Given the description of an element on the screen output the (x, y) to click on. 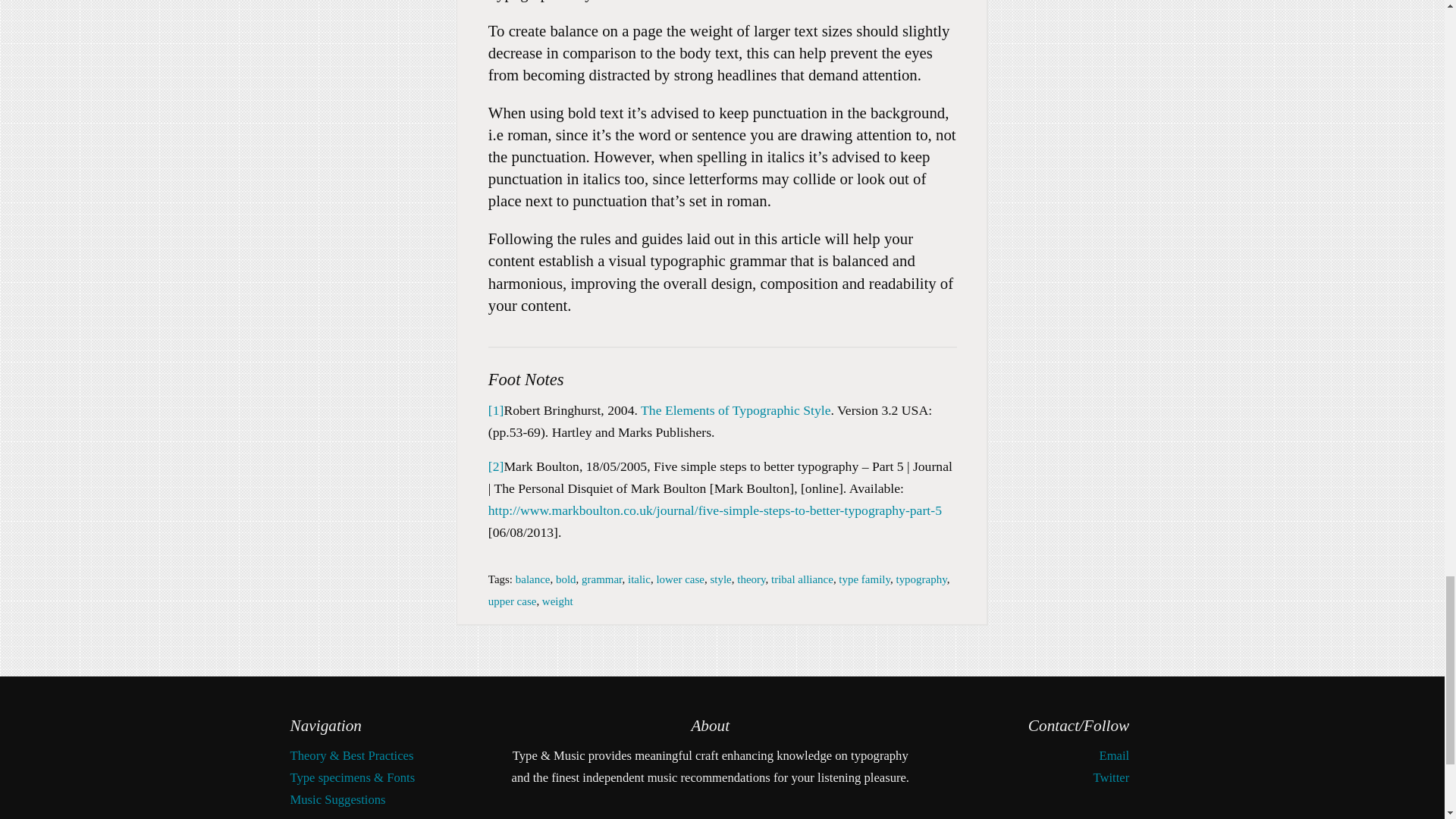
article footnotes (721, 443)
type family (863, 579)
style (720, 579)
upper case (512, 601)
balance (532, 579)
bold (566, 579)
Email (1114, 755)
typography (920, 579)
Music Suggestions (337, 799)
